Given the description of an element on the screen output the (x, y) to click on. 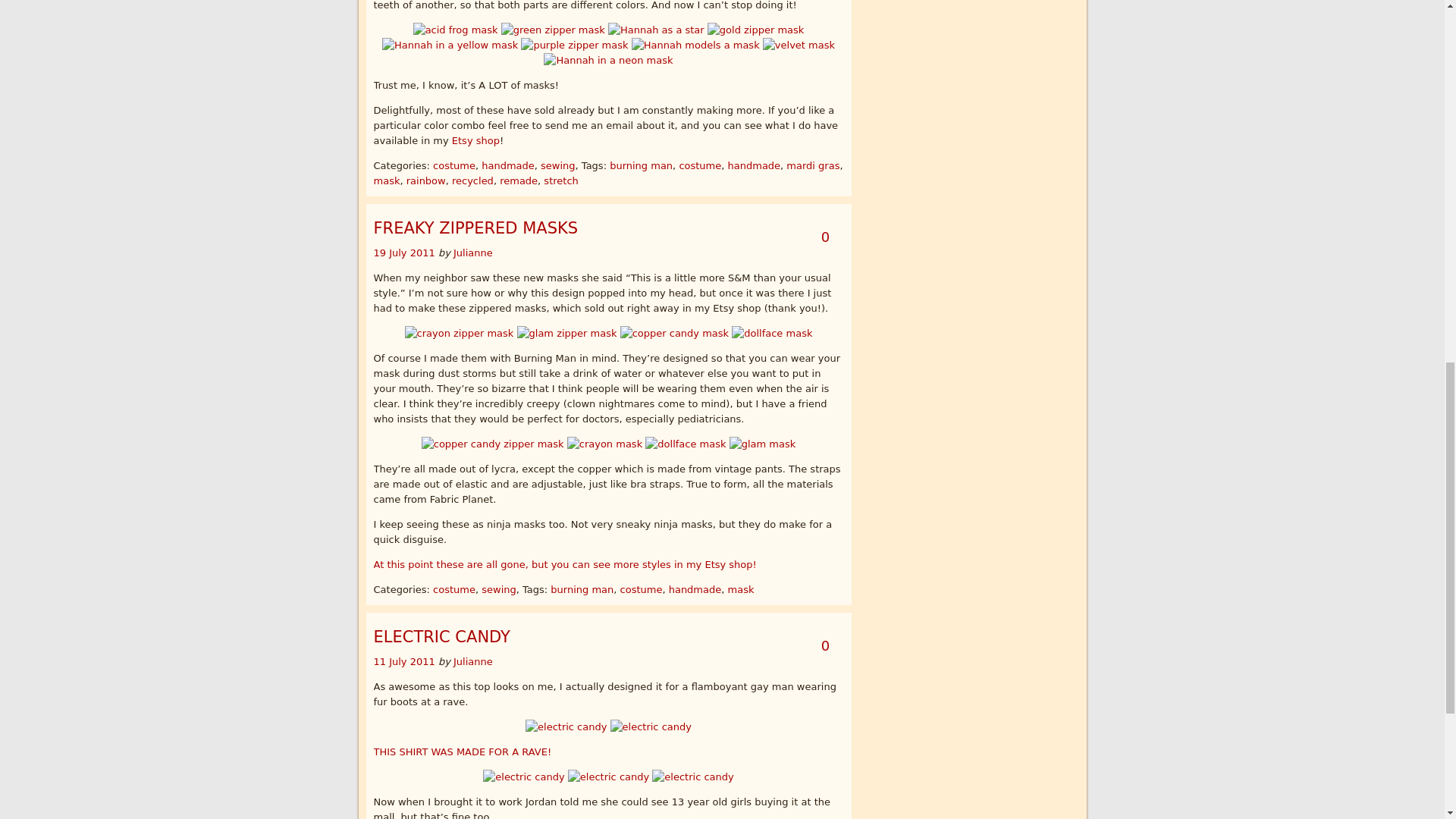
green zipper mask (552, 29)
Etsy shop (475, 140)
costume (454, 165)
acid frog mask (455, 29)
handmade (507, 165)
burning man (641, 165)
Hannah as a star (656, 29)
sewing (557, 165)
